Given the description of an element on the screen output the (x, y) to click on. 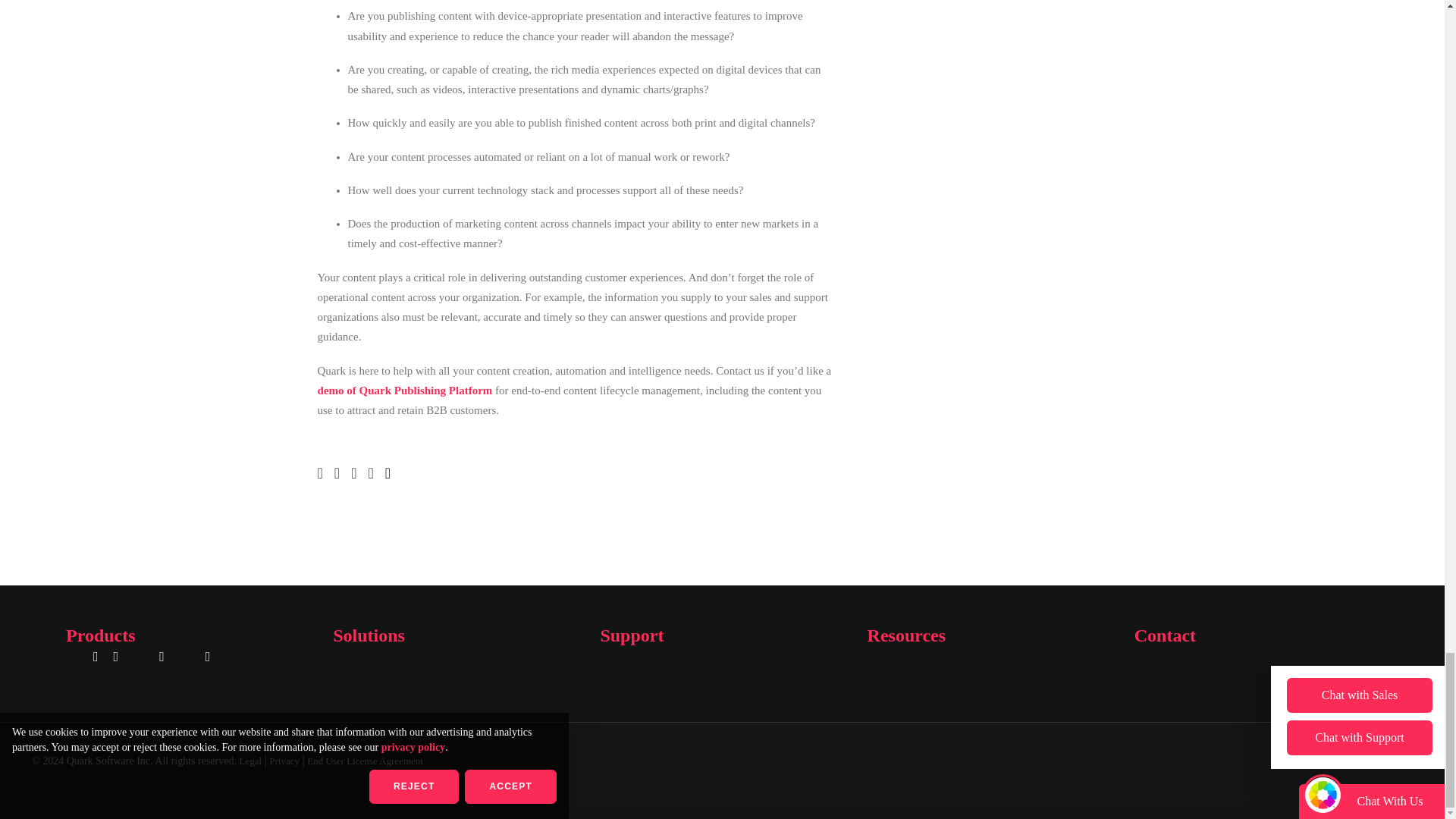
Share on Facebook (341, 473)
Tweet this (358, 473)
Share on Linkedin (324, 473)
